Given the description of an element on the screen output the (x, y) to click on. 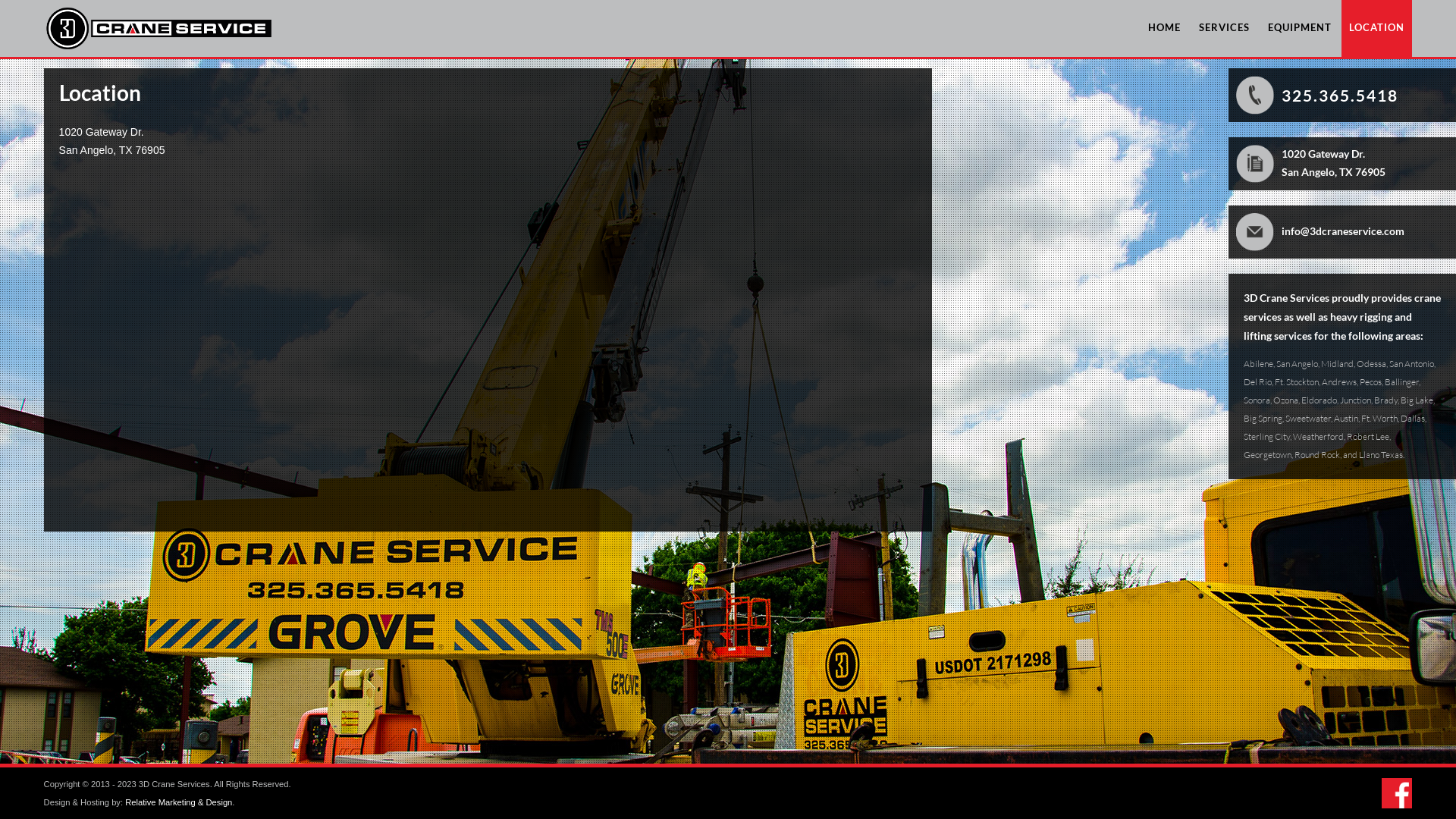
LOCATION Element type: text (1376, 28)
SERVICES Element type: text (1224, 28)
EQUIPMENT Element type: text (1299, 28)
HOME Element type: text (1164, 28)
Relative Marketing & Design Element type: text (178, 801)
info@3dcraneservice.com Element type: text (1342, 230)
